Given the description of an element on the screen output the (x, y) to click on. 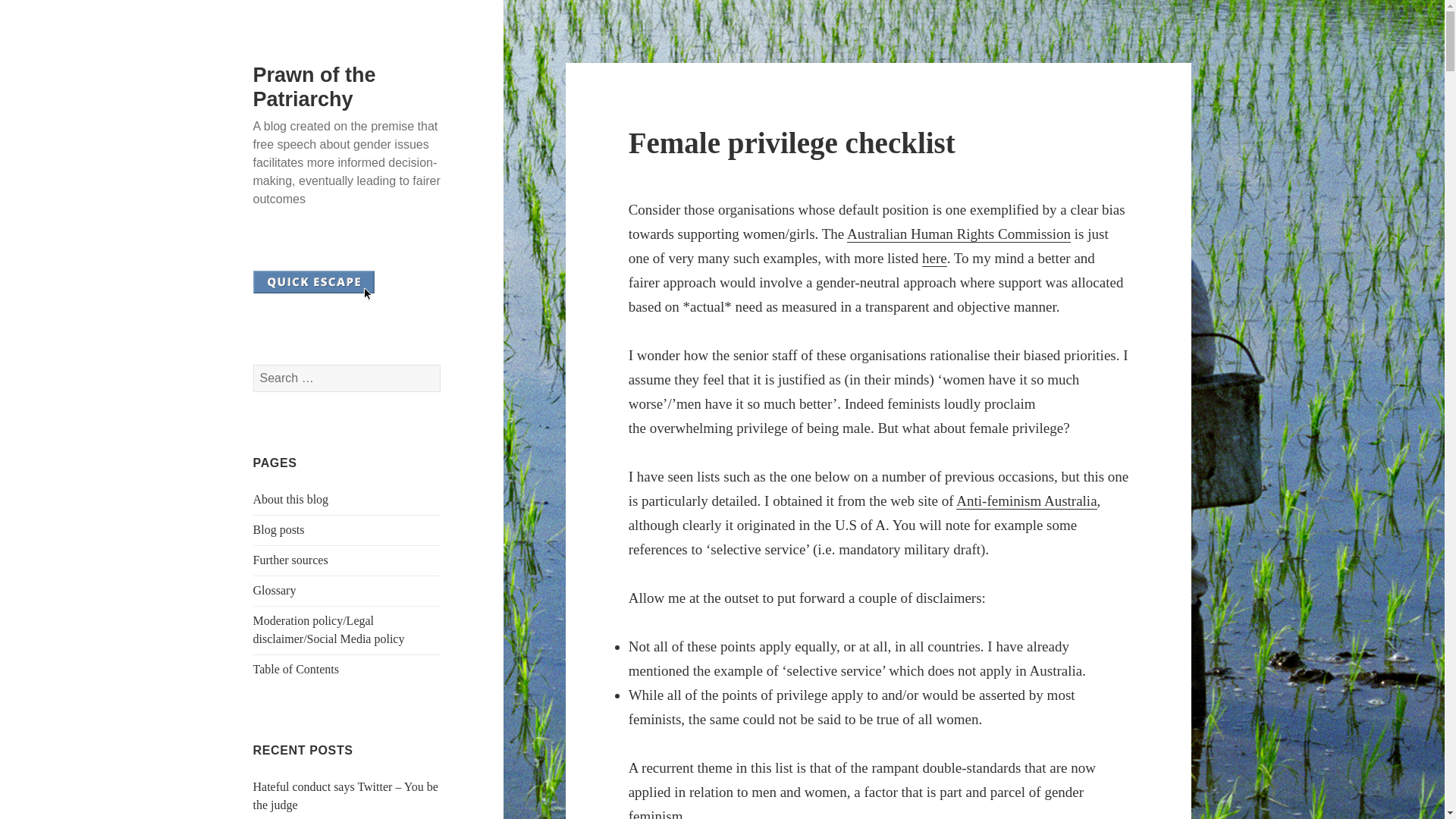
Glossary (275, 590)
Blog posts (278, 529)
Australian Human Rights Commission (958, 234)
Anti-feminism Australia (1026, 501)
About this blog (291, 499)
Prawn of the Patriarchy (314, 86)
Table of Contents (296, 668)
here (934, 258)
Further sources (291, 559)
